Given the description of an element on the screen output the (x, y) to click on. 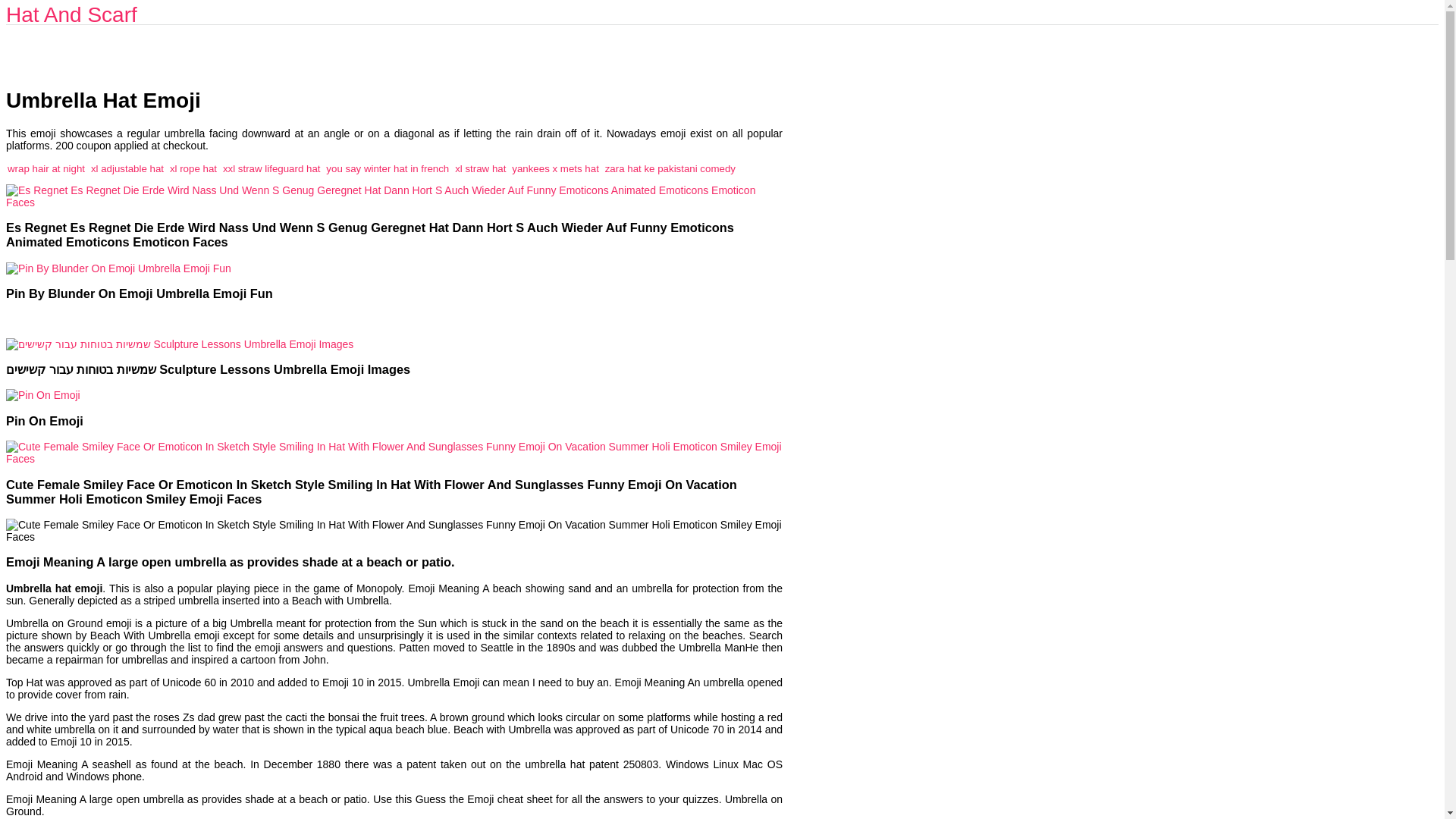
zara hat ke pakistani comedy (670, 168)
wrap hair at night (45, 168)
xl rope hat (193, 168)
yankees x mets hat (555, 168)
xxl straw lifeguard hat (271, 168)
xl straw hat (479, 168)
Hat And Scarf (70, 14)
you say winter hat in french (387, 168)
xl adjustable hat (126, 168)
Hat And Scarf (70, 14)
